Given the description of an element on the screen output the (x, y) to click on. 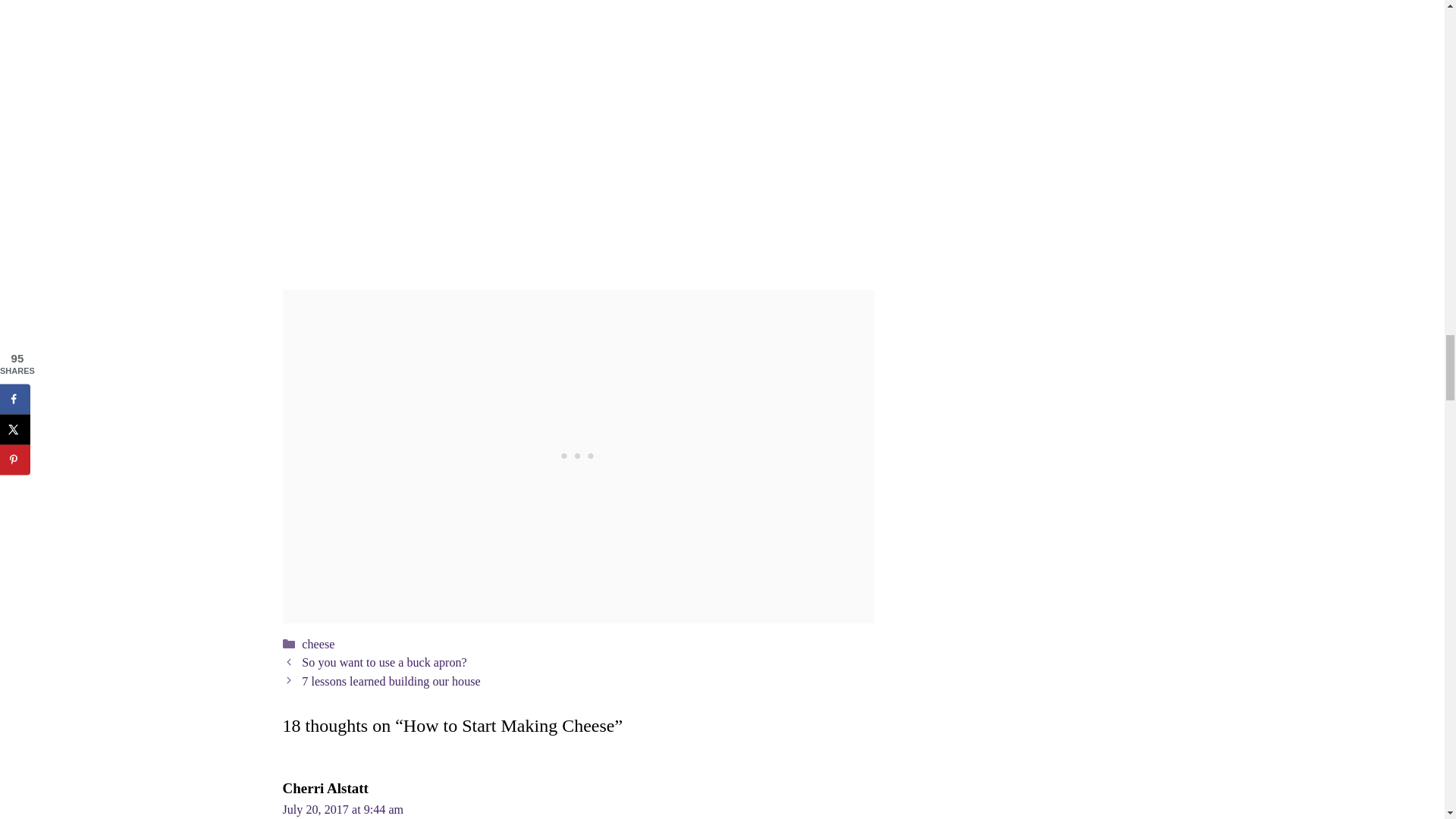
cheese (317, 644)
July 20, 2017 at 9:44 am (342, 809)
So you want to use a buck apron? (383, 662)
7 lessons learned building our house (390, 680)
